Given the description of an element on the screen output the (x, y) to click on. 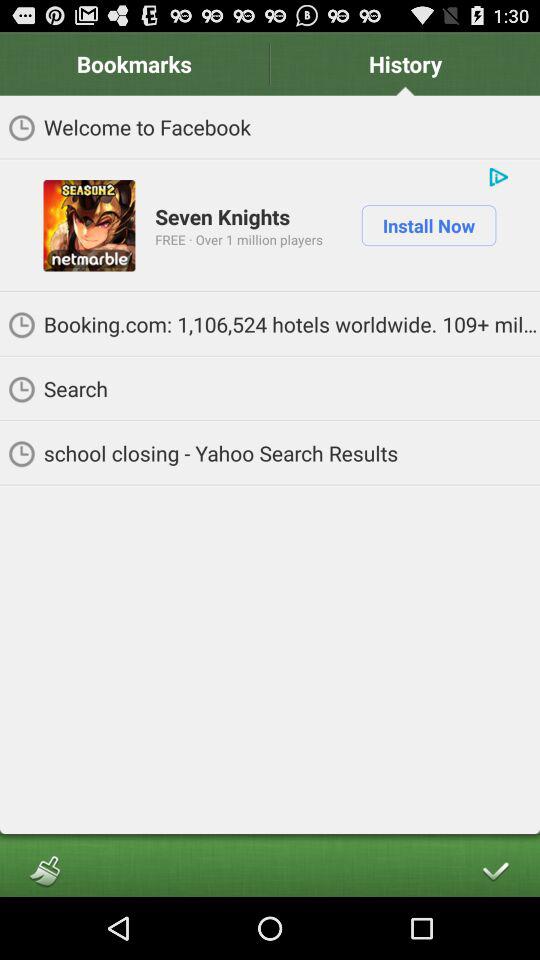
turn off the icon above booking com 1 item (238, 239)
